Given the description of an element on the screen output the (x, y) to click on. 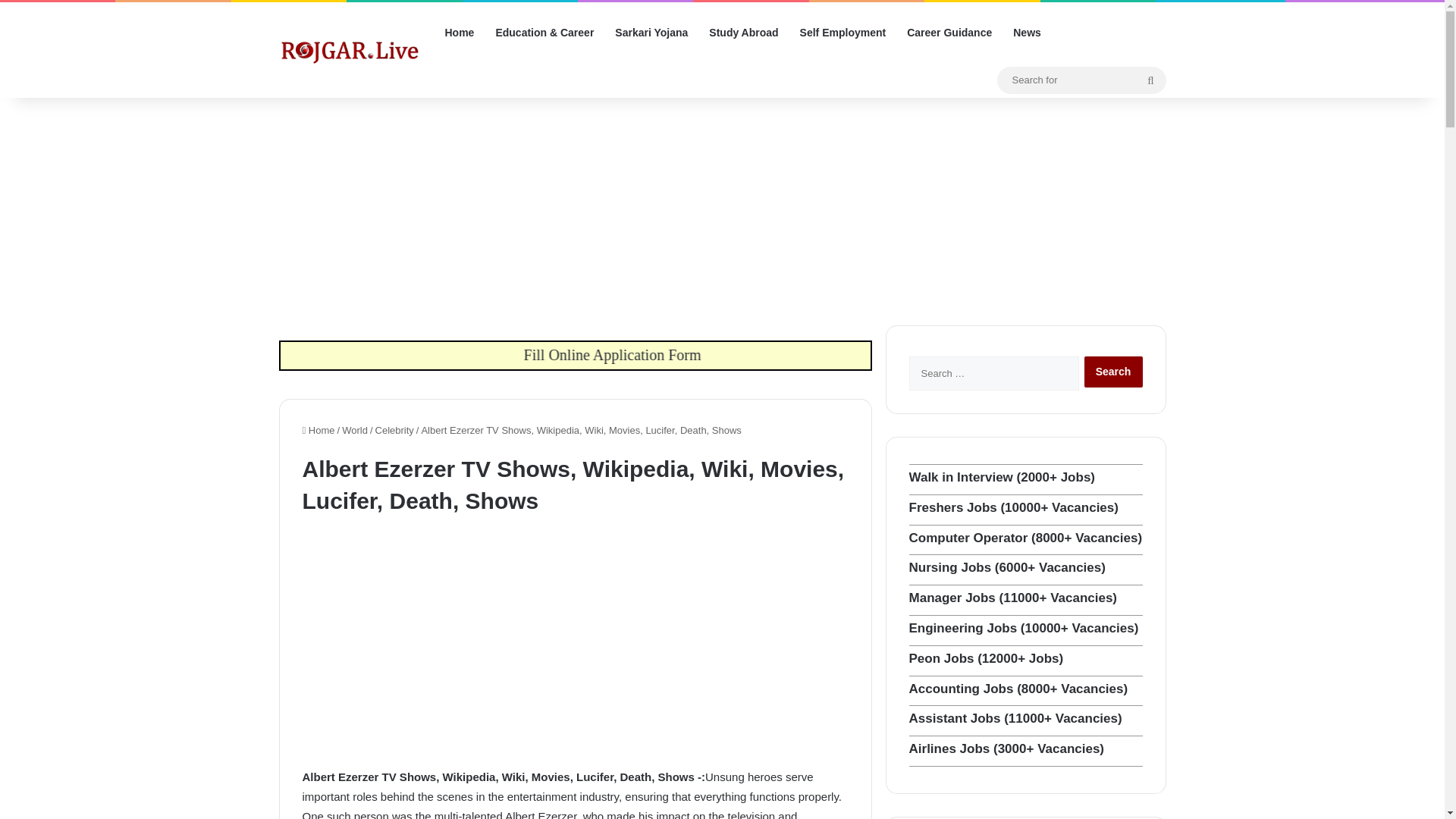
Celebrity (394, 430)
Self Employment (842, 32)
Search for (1150, 80)
World (355, 430)
Study Abroad (743, 32)
Fill Online Application Form (768, 353)
Search for (1080, 79)
Search (1113, 371)
Rojgar.Live (349, 50)
Career Guidance (949, 32)
Sarkari Yojana (651, 32)
Search (1113, 371)
Search (1113, 371)
Home (317, 430)
